Given the description of an element on the screen output the (x, y) to click on. 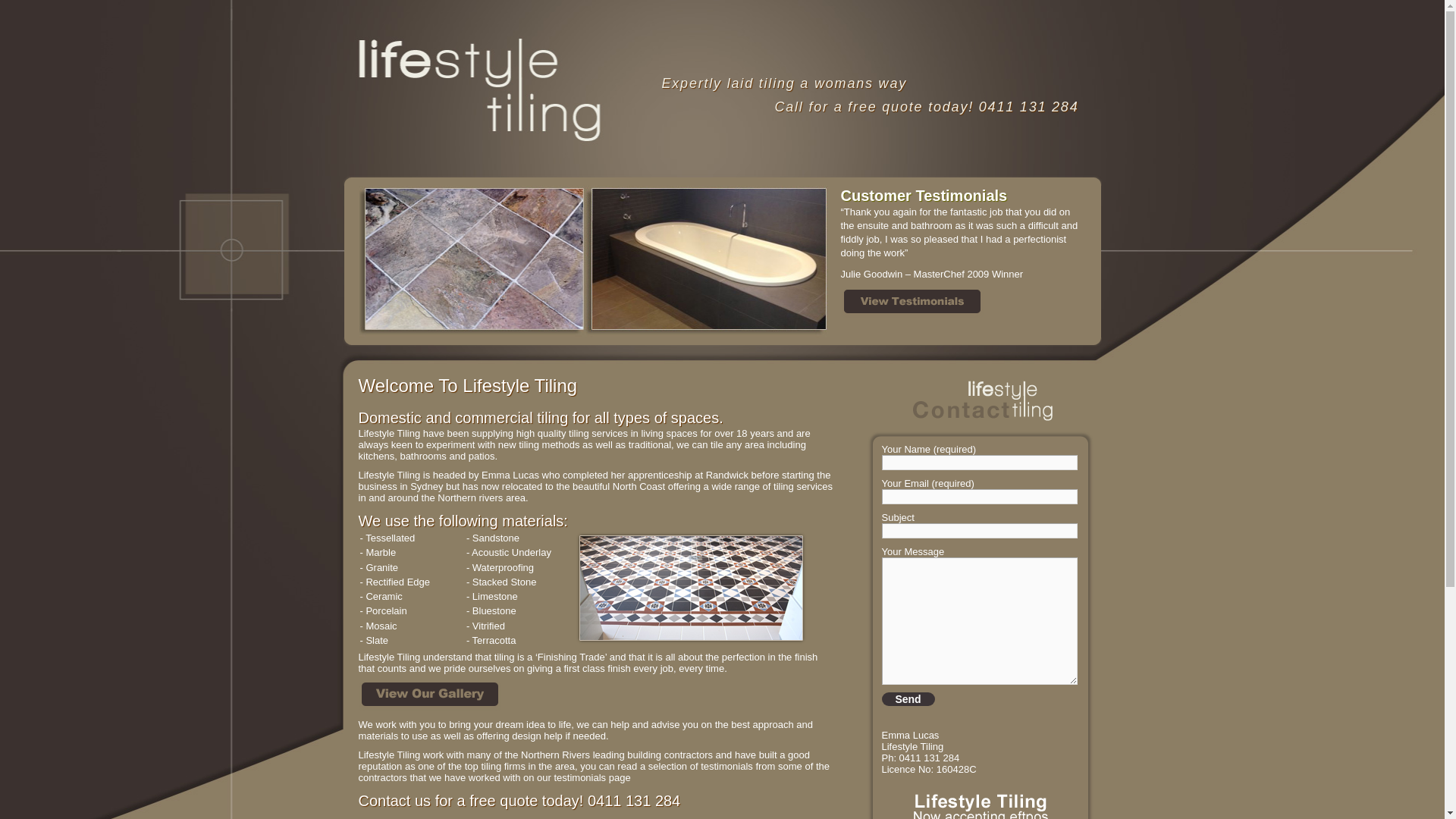
testimonials page Element type: text (792, 777)
Customer Testimonials Element type: text (961, 195)
Send Element type: text (907, 699)
tiles-3 Element type: hover (691, 589)
